Given the description of an element on the screen output the (x, y) to click on. 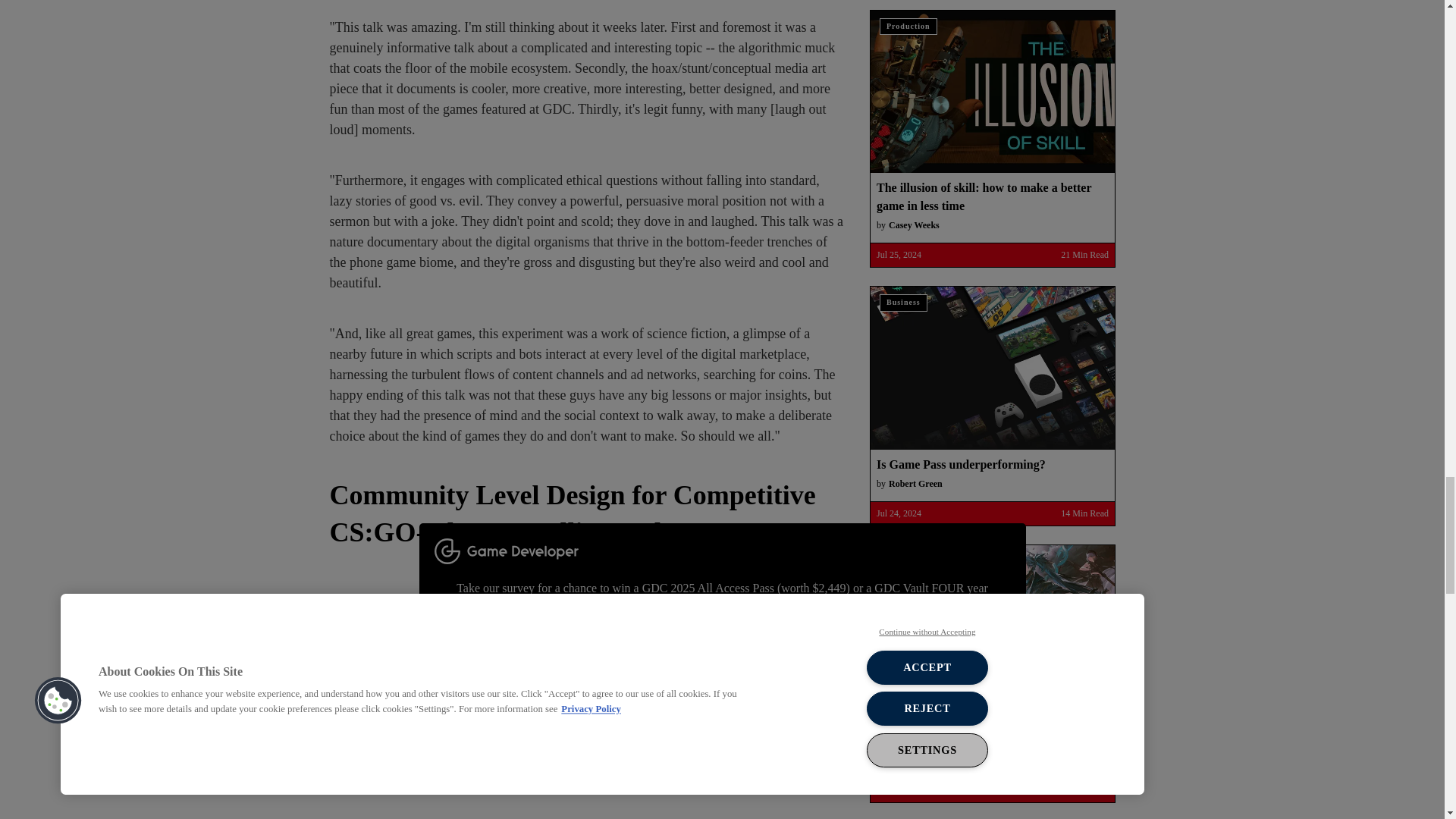
Embedded content (586, 700)
